Given the description of an element on the screen output the (x, y) to click on. 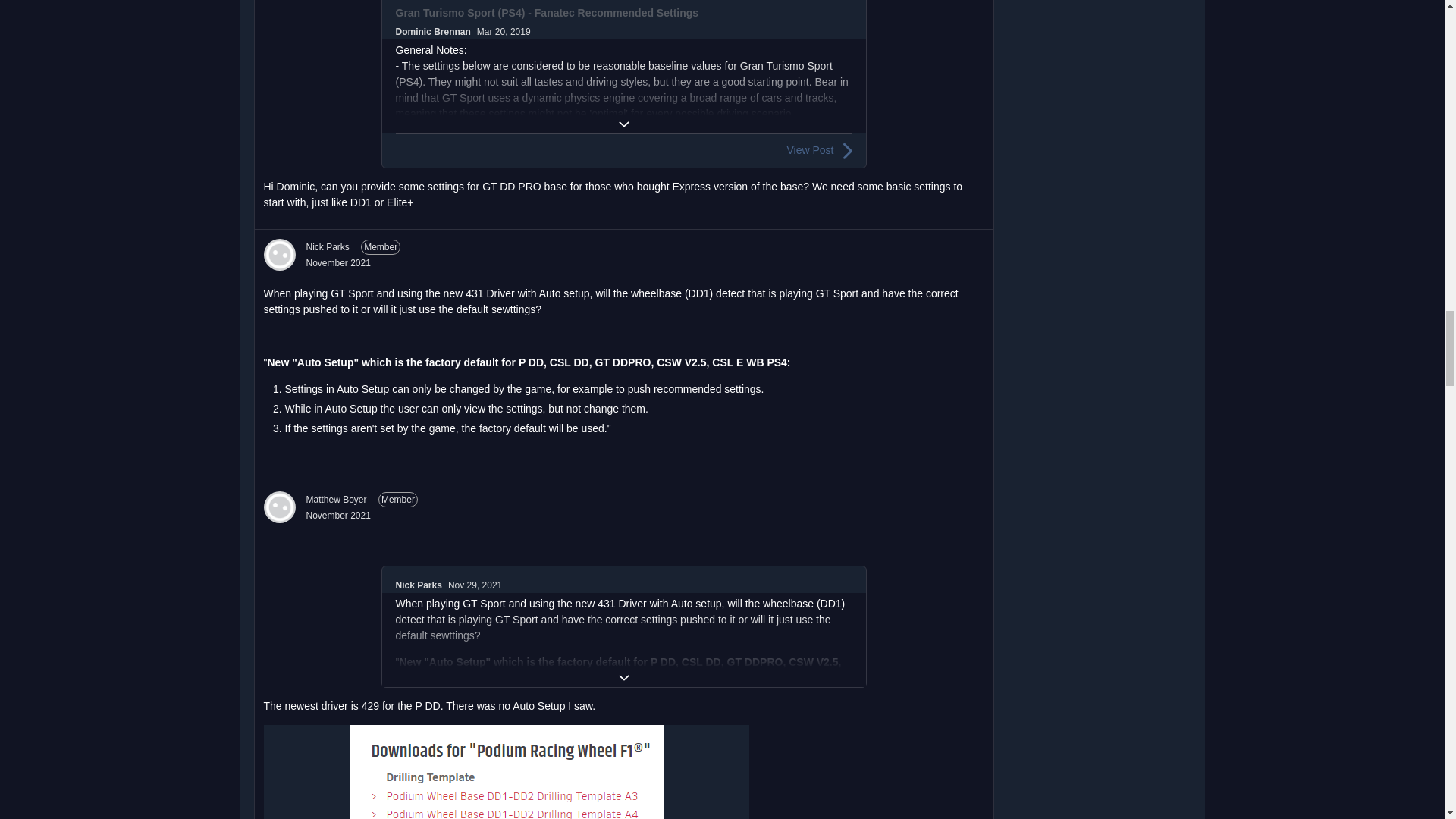
Expand (622, 678)
Expand (622, 124)
